Given the description of an element on the screen output the (x, y) to click on. 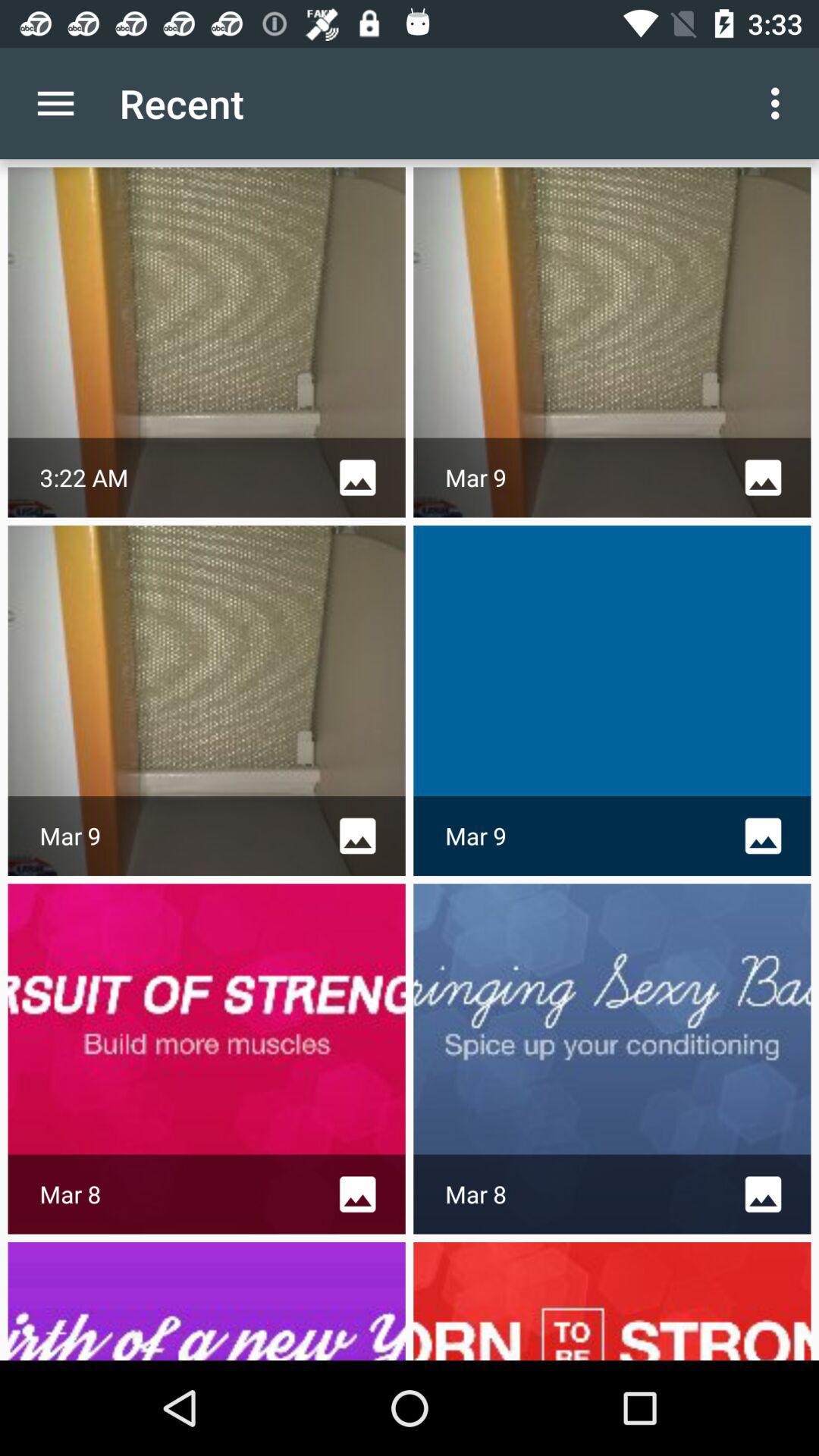
press the app to the right of the recent icon (779, 103)
